Given the description of an element on the screen output the (x, y) to click on. 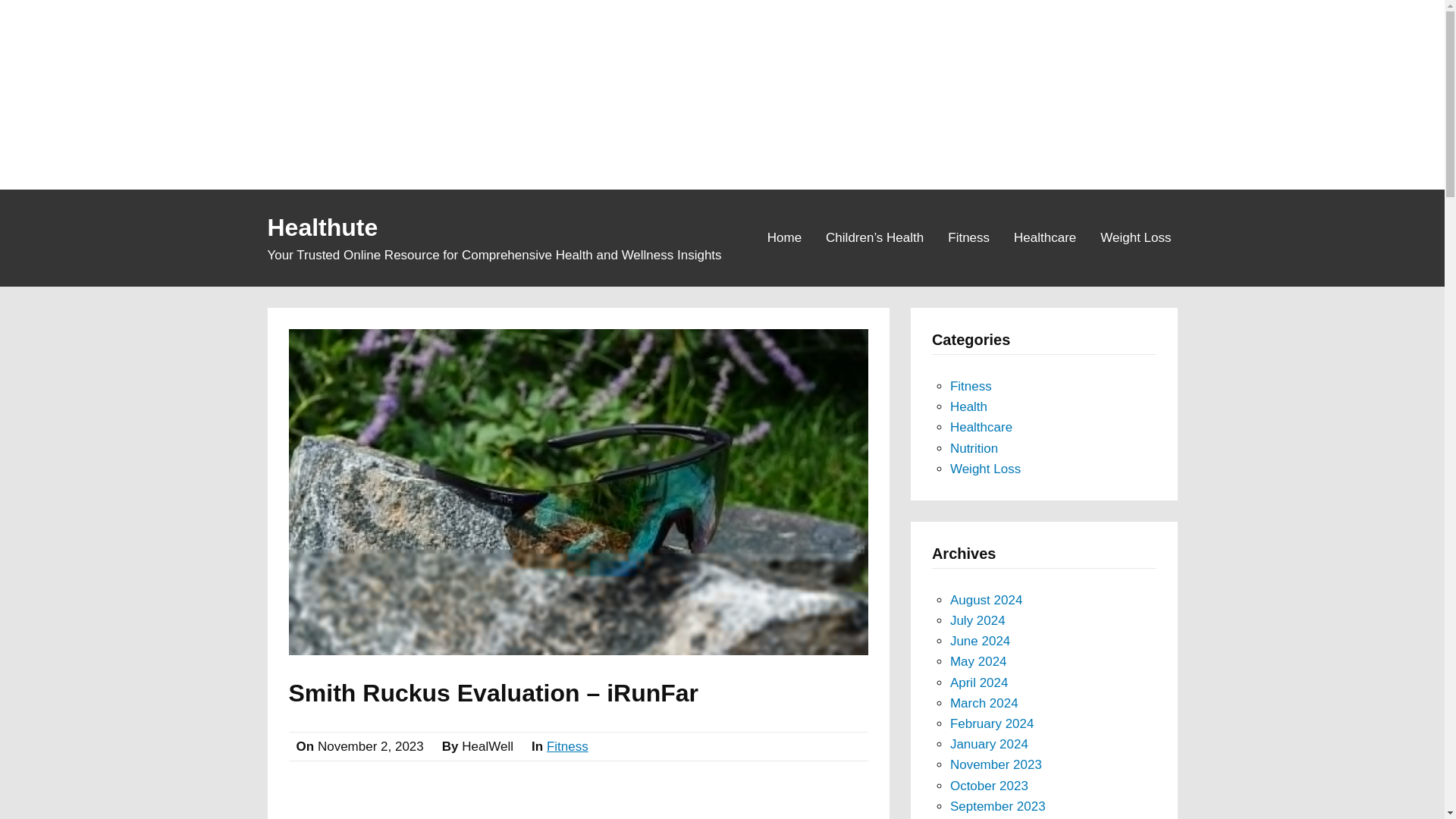
January 2024 (988, 744)
February 2024 (991, 723)
Healthcare (1044, 237)
Health (968, 406)
April 2024 (979, 682)
March 2024 (983, 703)
August 2024 (986, 599)
Weight Loss (1135, 237)
May 2024 (978, 661)
September 2023 (997, 806)
Fitness (968, 237)
Home (784, 237)
Healthcare (980, 427)
June 2024 (980, 640)
Fitness (567, 746)
